Given the description of an element on the screen output the (x, y) to click on. 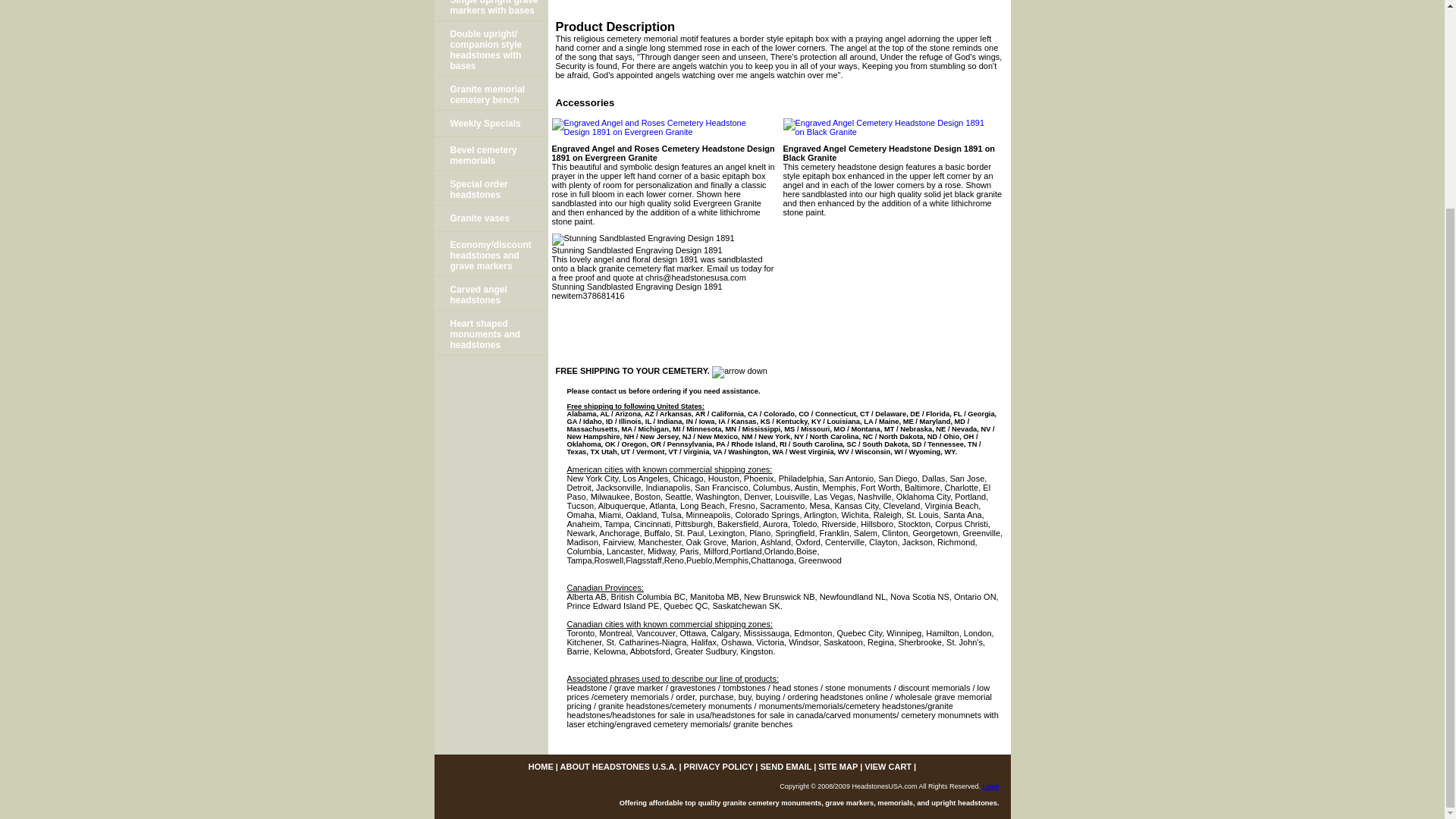
Single upright grave markers with bases (490, 10)
Carved angel headstones (490, 293)
Bevel cemetery memorials (490, 154)
Special order headstones (490, 188)
Stunning Sandblasted Engraving Design 1891 (643, 239)
PRIVACY POLICY (719, 766)
ABOUT HEADSTONES U.S.A. (618, 766)
SITE MAP (837, 766)
SEND EMAIL (786, 766)
Bevel cemetery memorials (490, 154)
HOME (540, 766)
 Granite memorial  cemetery bench (490, 93)
